Given the description of an element on the screen output the (x, y) to click on. 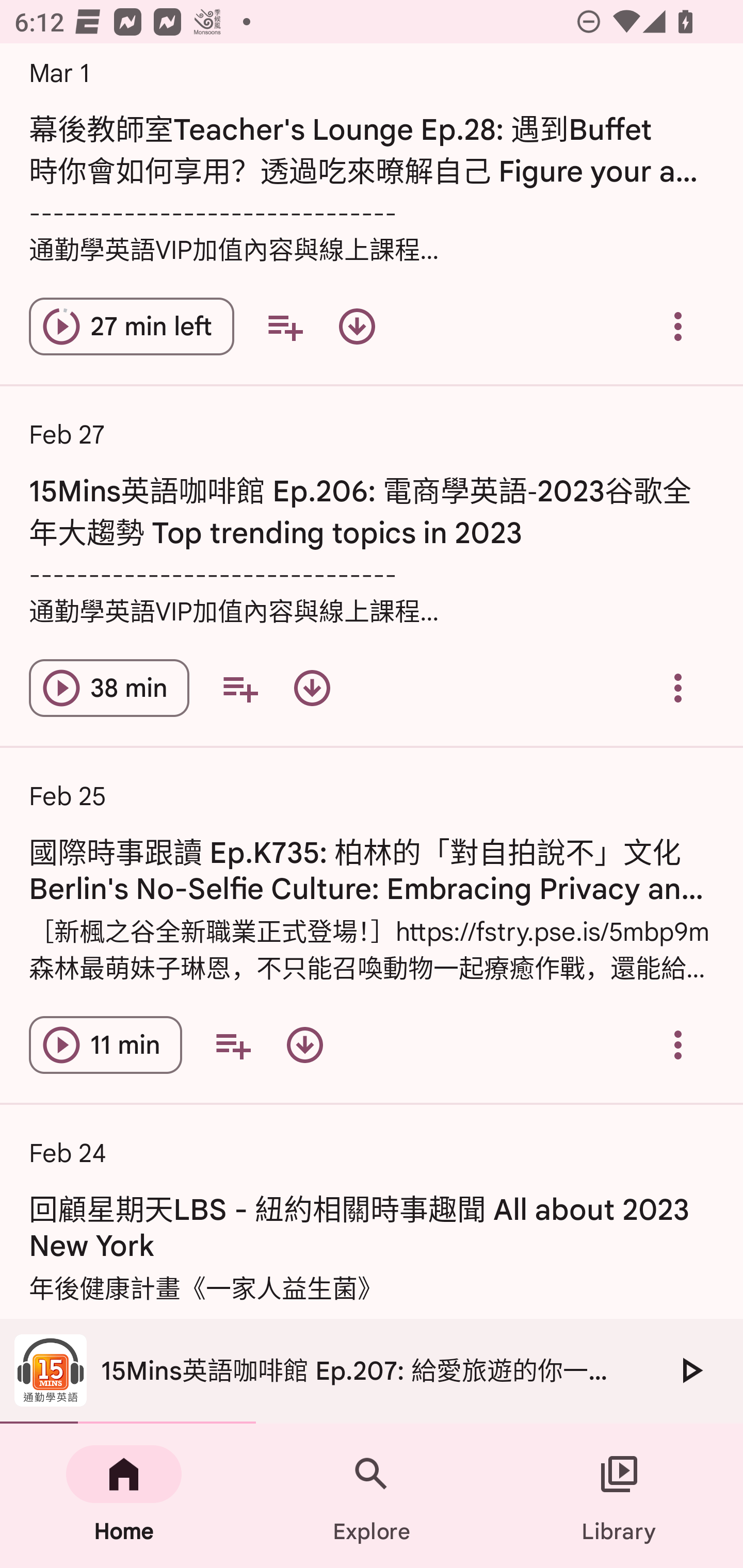
Add to your queue (284, 326)
Download episode (356, 326)
Overflow menu (677, 326)
Add to your queue (239, 687)
Download episode (312, 687)
Overflow menu (677, 687)
Add to your queue (232, 1044)
Download episode (304, 1044)
Overflow menu (677, 1044)
Play (690, 1370)
Explore (371, 1495)
Library (619, 1495)
